Given the description of an element on the screen output the (x, y) to click on. 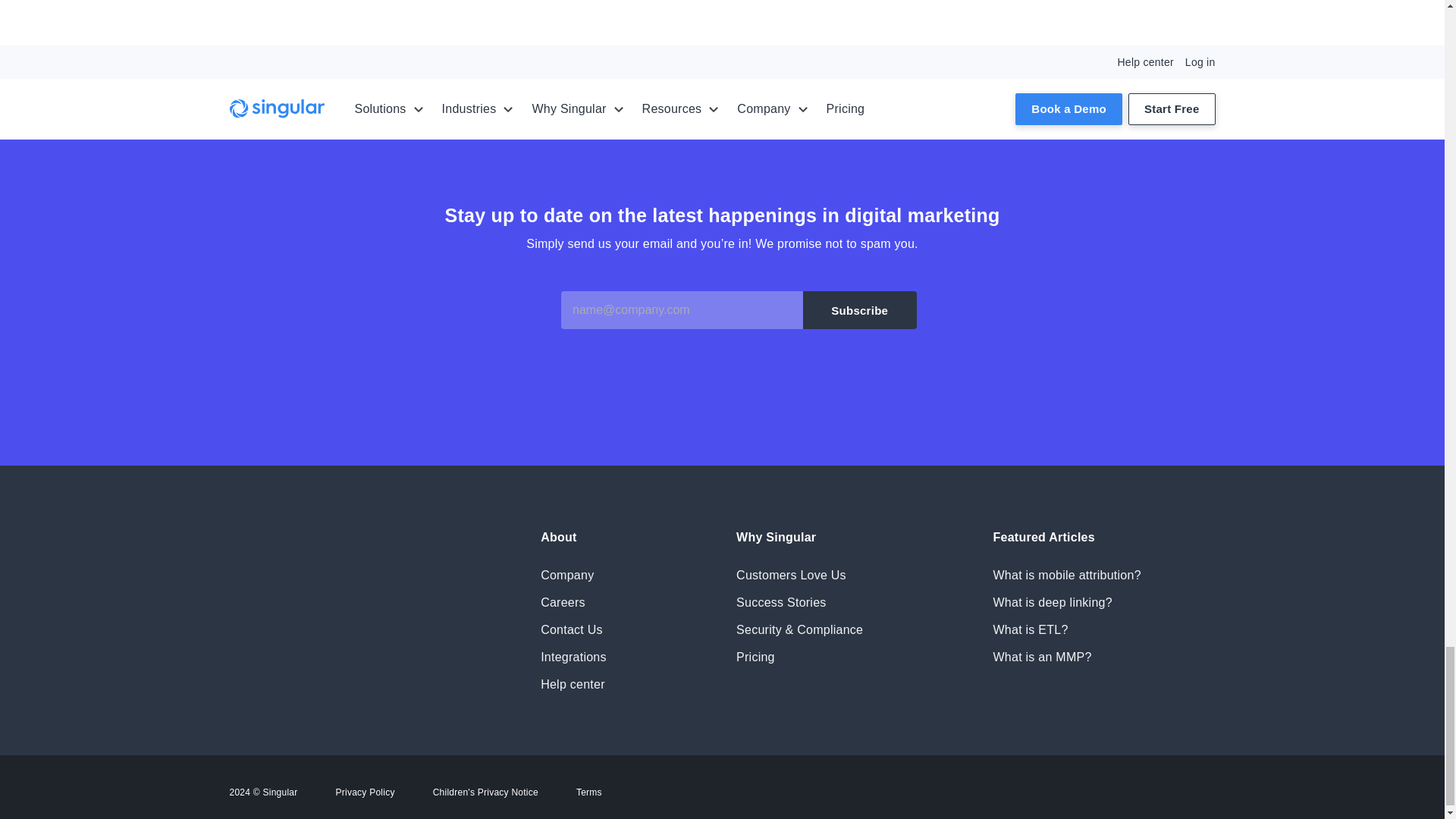
Subscribe (860, 310)
